Given the description of an element on the screen output the (x, y) to click on. 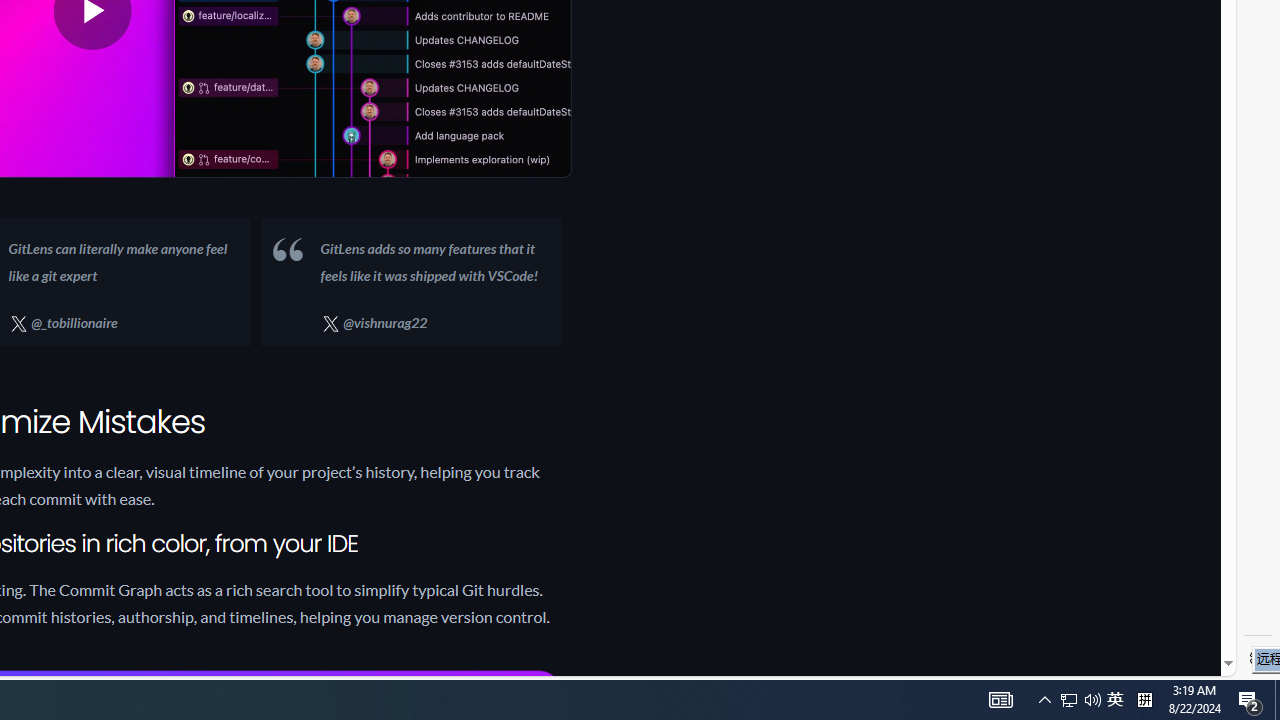
Q2790: 100% (1092, 699)
Tray Input Indicator - Chinese (Simplified, China) (1144, 699)
Show desktop (1115, 699)
Notification Chevron (1277, 699)
Action Center, 2 new notifications (1069, 699)
AutomationID: 4105 (1044, 699)
User Promoted Notification Area (1250, 699)
